Given the description of an element on the screen output the (x, y) to click on. 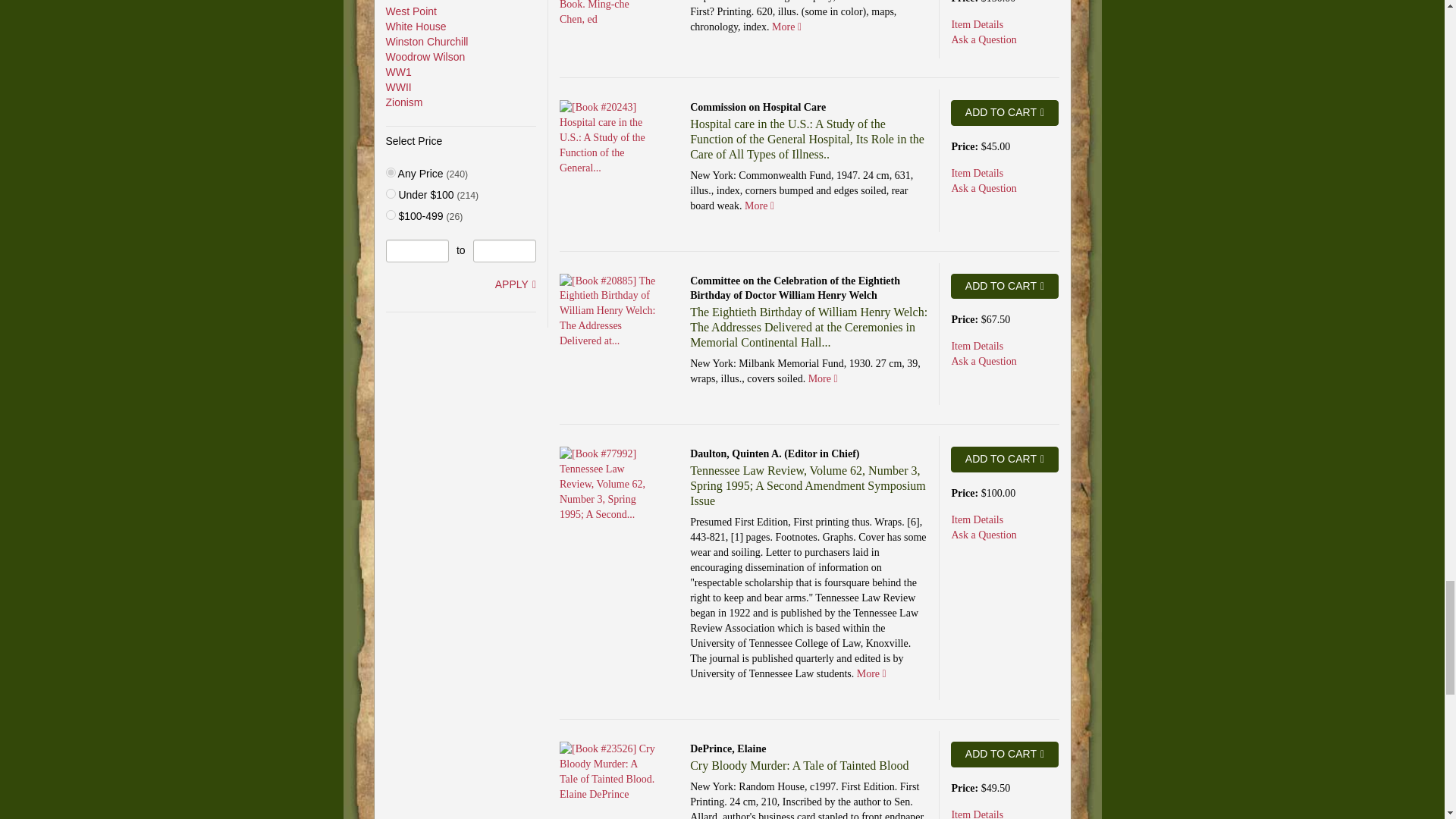
, (389, 172)
,99 (389, 194)
100,499 (389, 214)
